Given the description of an element on the screen output the (x, y) to click on. 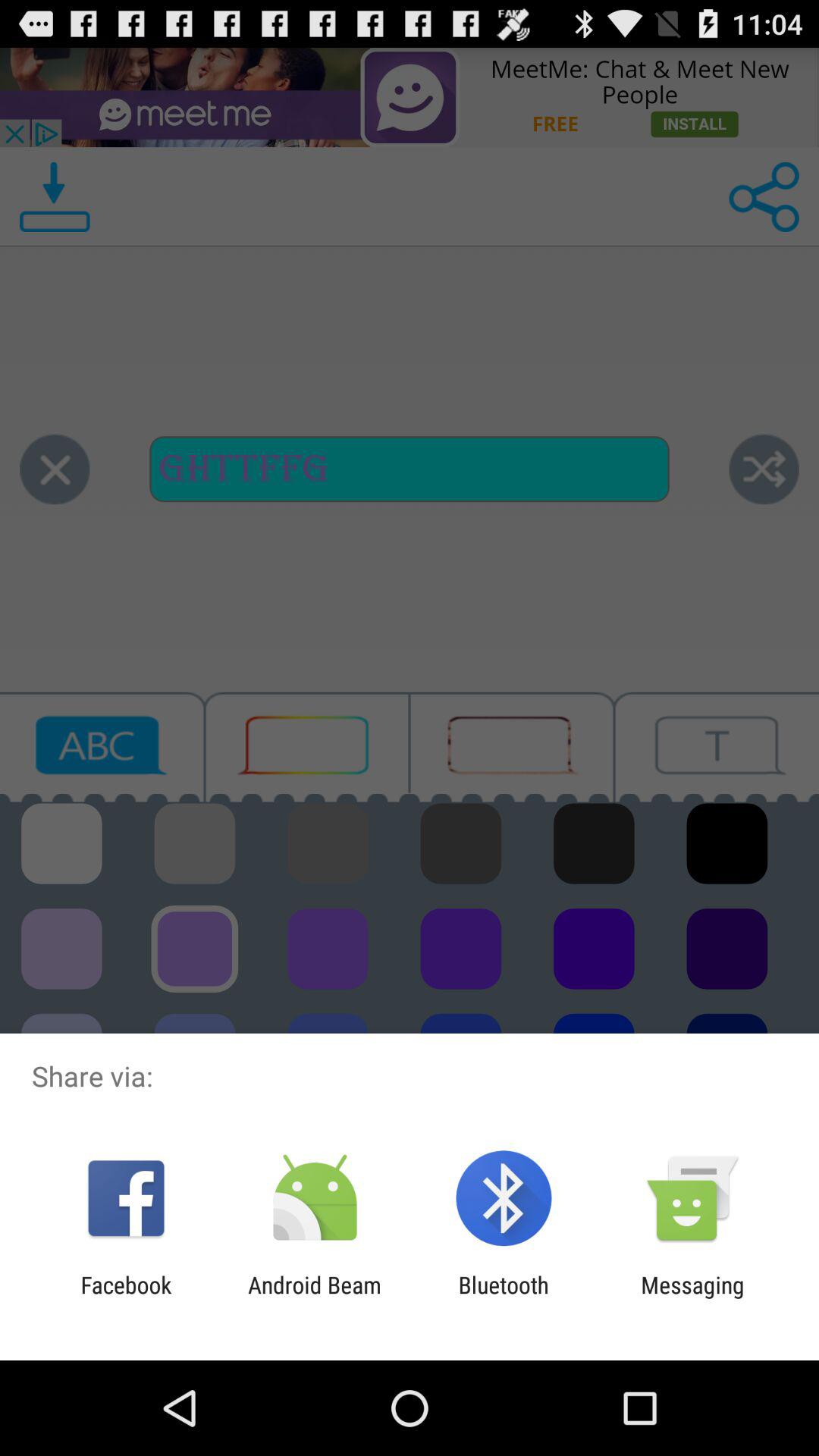
swipe until the facebook app (125, 1298)
